Given the description of an element on the screen output the (x, y) to click on. 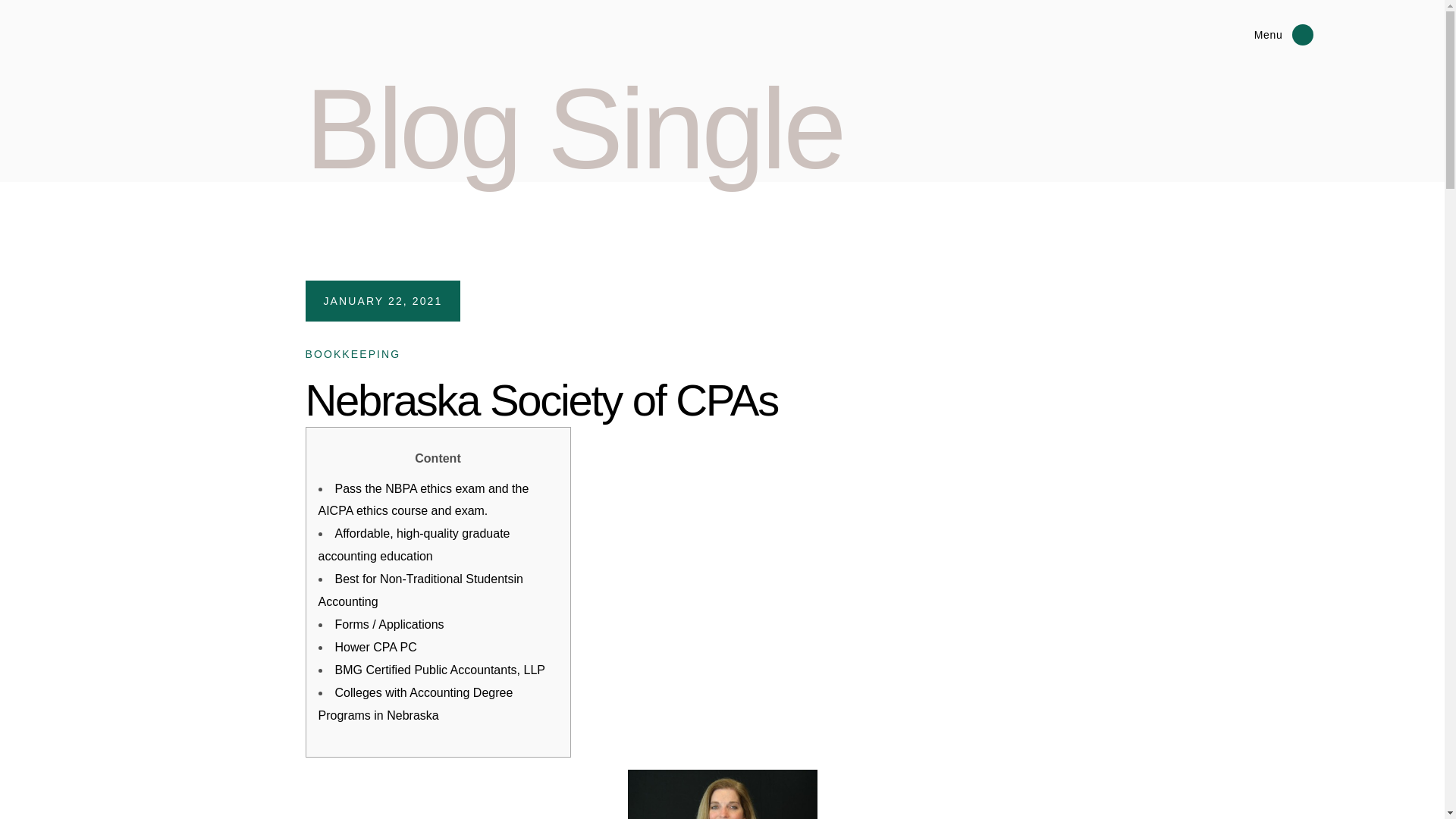
JANUARY 22, 2021 (382, 300)
Affordable, high-quality graduate accounting education (414, 544)
Hower CPA PC (375, 646)
Best for Non-Traditional Studentsin Accounting (420, 590)
BOOKKEEPING (352, 354)
BMG Certified Public Accountants, LLP (439, 669)
Colleges with Accounting Degree Programs in Nebraska (415, 703)
Menu (1238, 34)
